Given the description of an element on the screen output the (x, y) to click on. 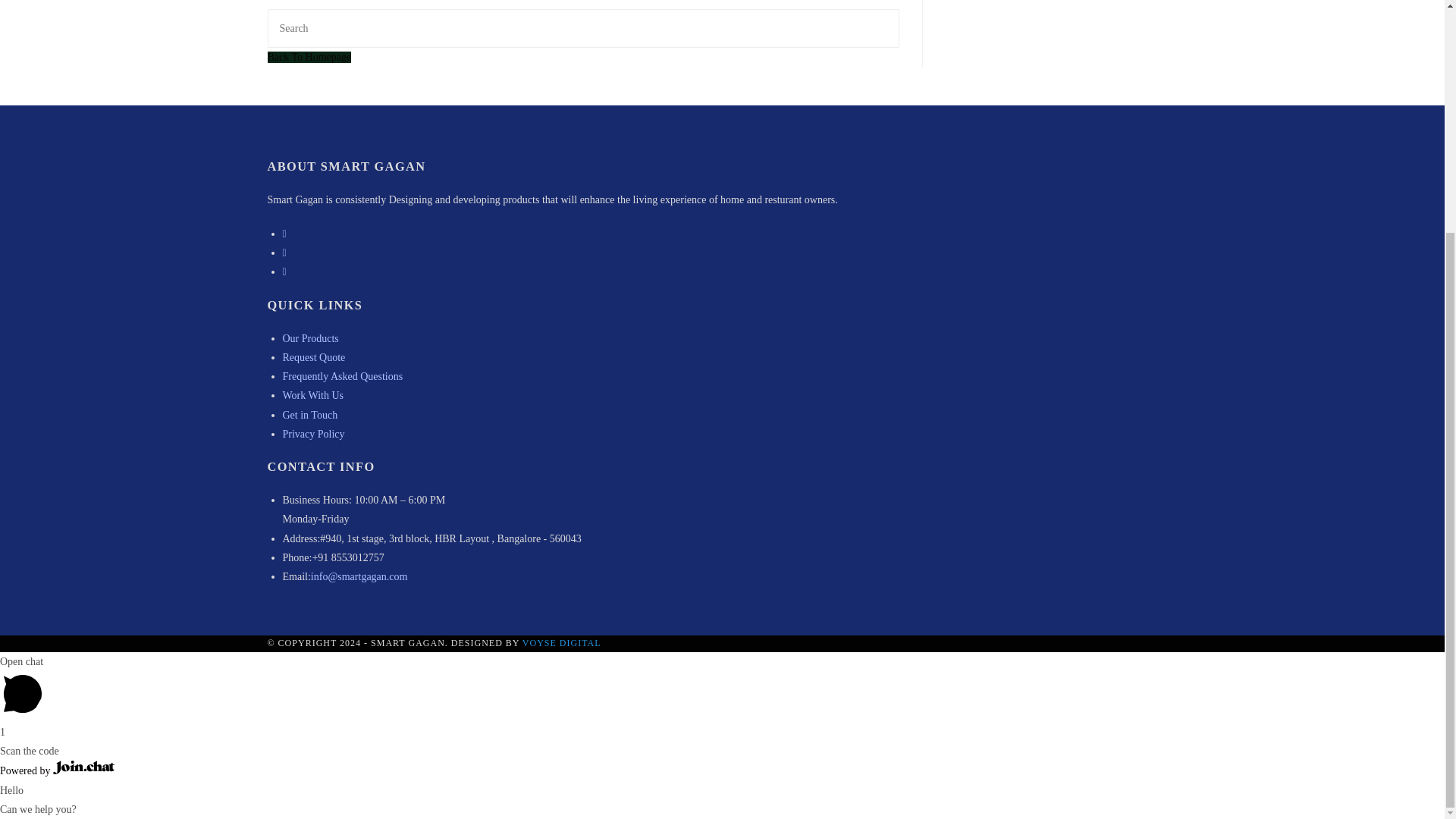
Back To Homepage (308, 57)
Joinchat (83, 766)
Our Products (309, 337)
